Given the description of an element on the screen output the (x, y) to click on. 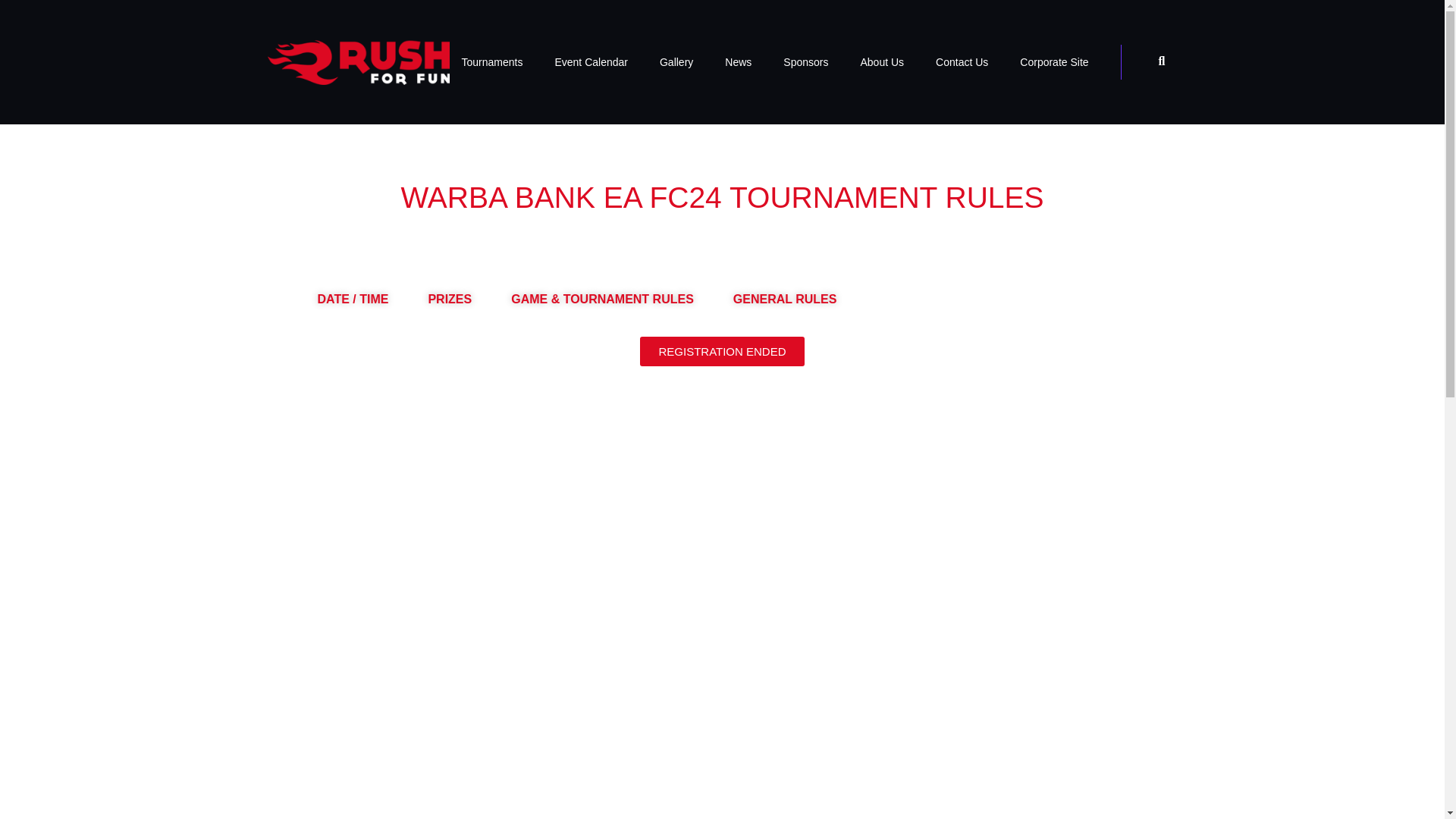
REGISTRATION ENDED (721, 351)
Gallery (676, 61)
Tournaments (491, 61)
Event Calendar (590, 61)
Contact Us (962, 61)
Sponsors (805, 61)
About Us (882, 61)
News (738, 61)
Corporate Site (1053, 61)
